Given the description of an element on the screen output the (x, y) to click on. 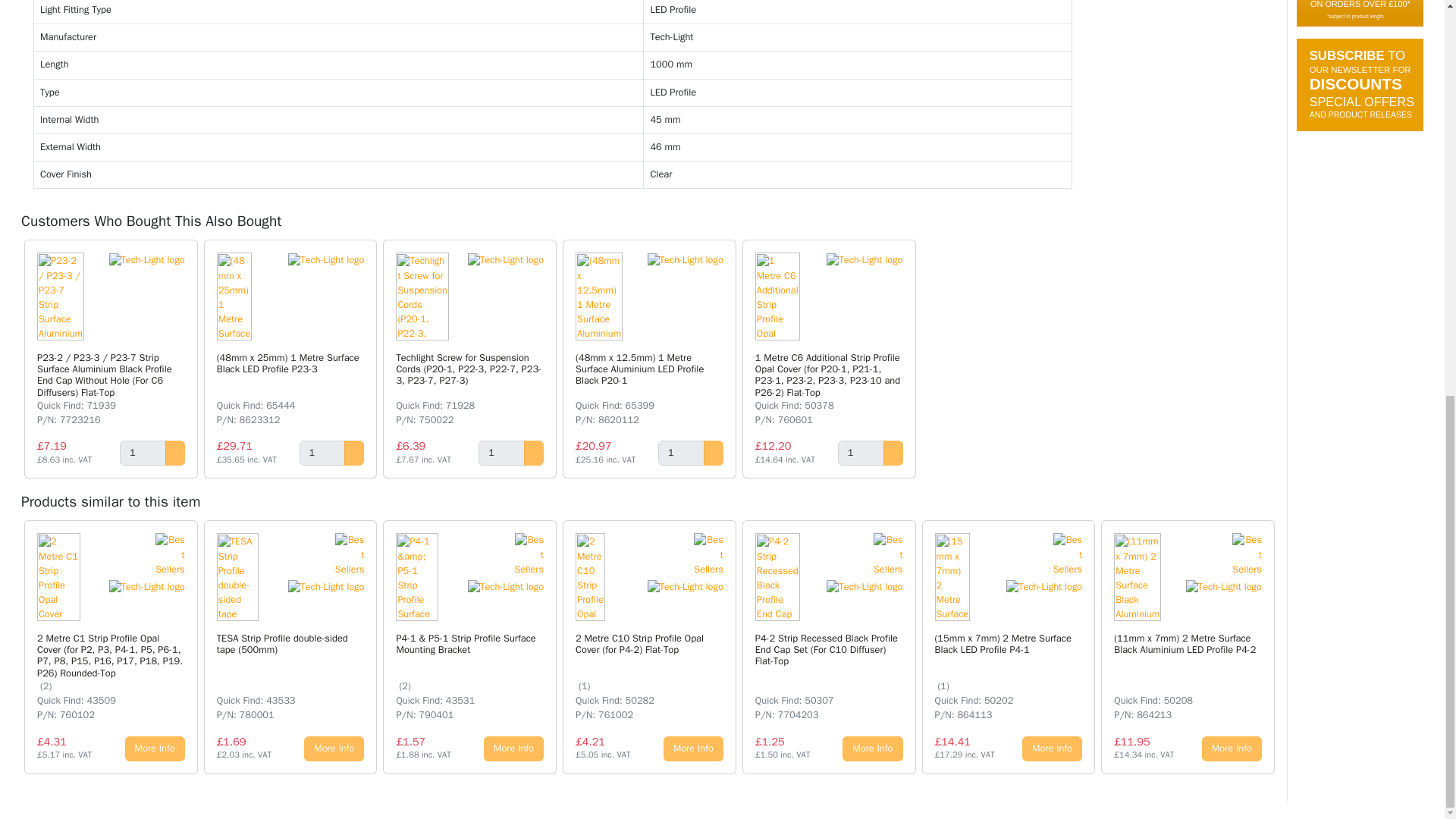
1 (142, 453)
1 (681, 453)
1 (322, 453)
1 (501, 453)
1 (860, 453)
